Given the description of an element on the screen output the (x, y) to click on. 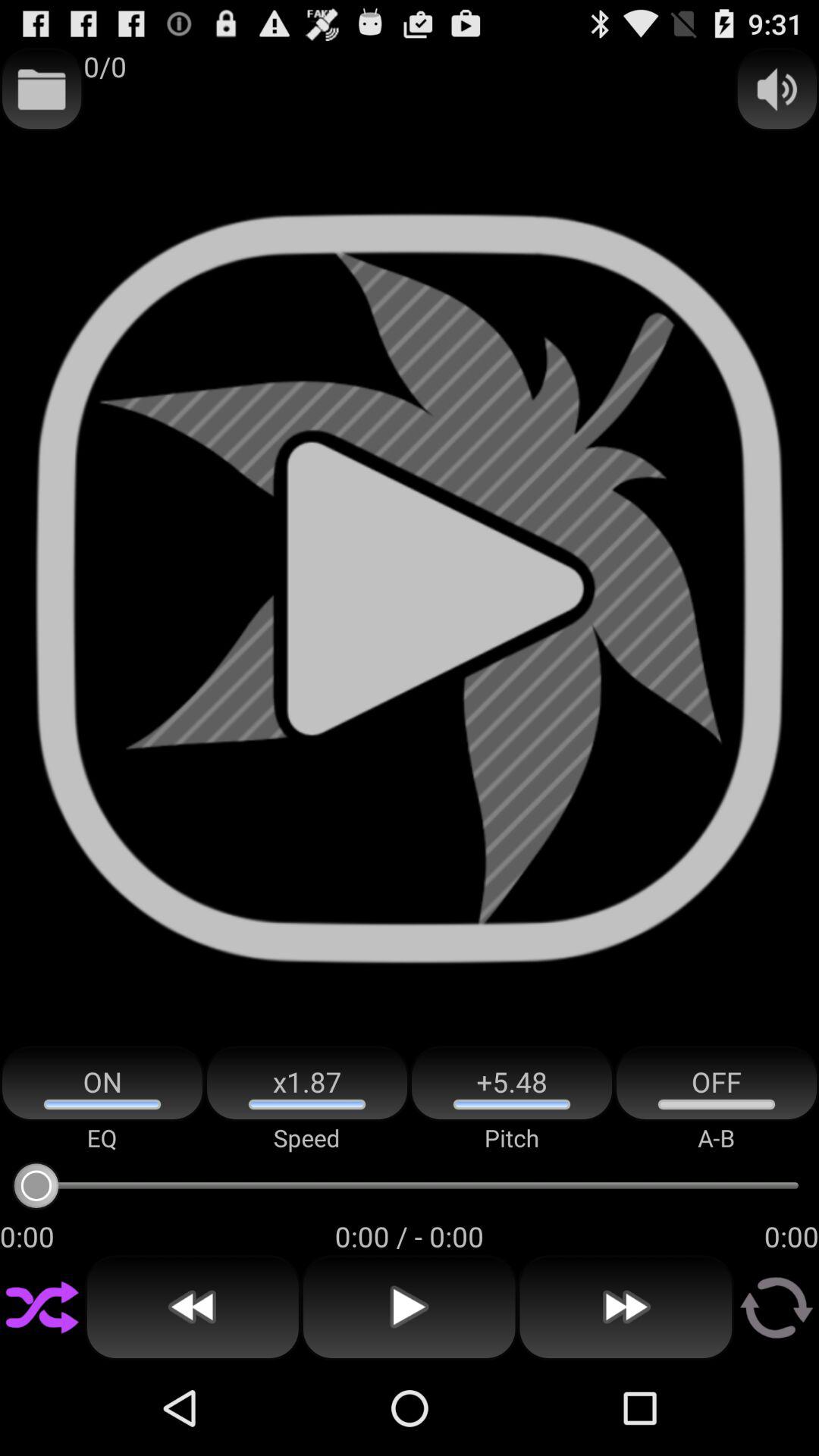
turn on on item (102, 1083)
